Given the description of an element on the screen output the (x, y) to click on. 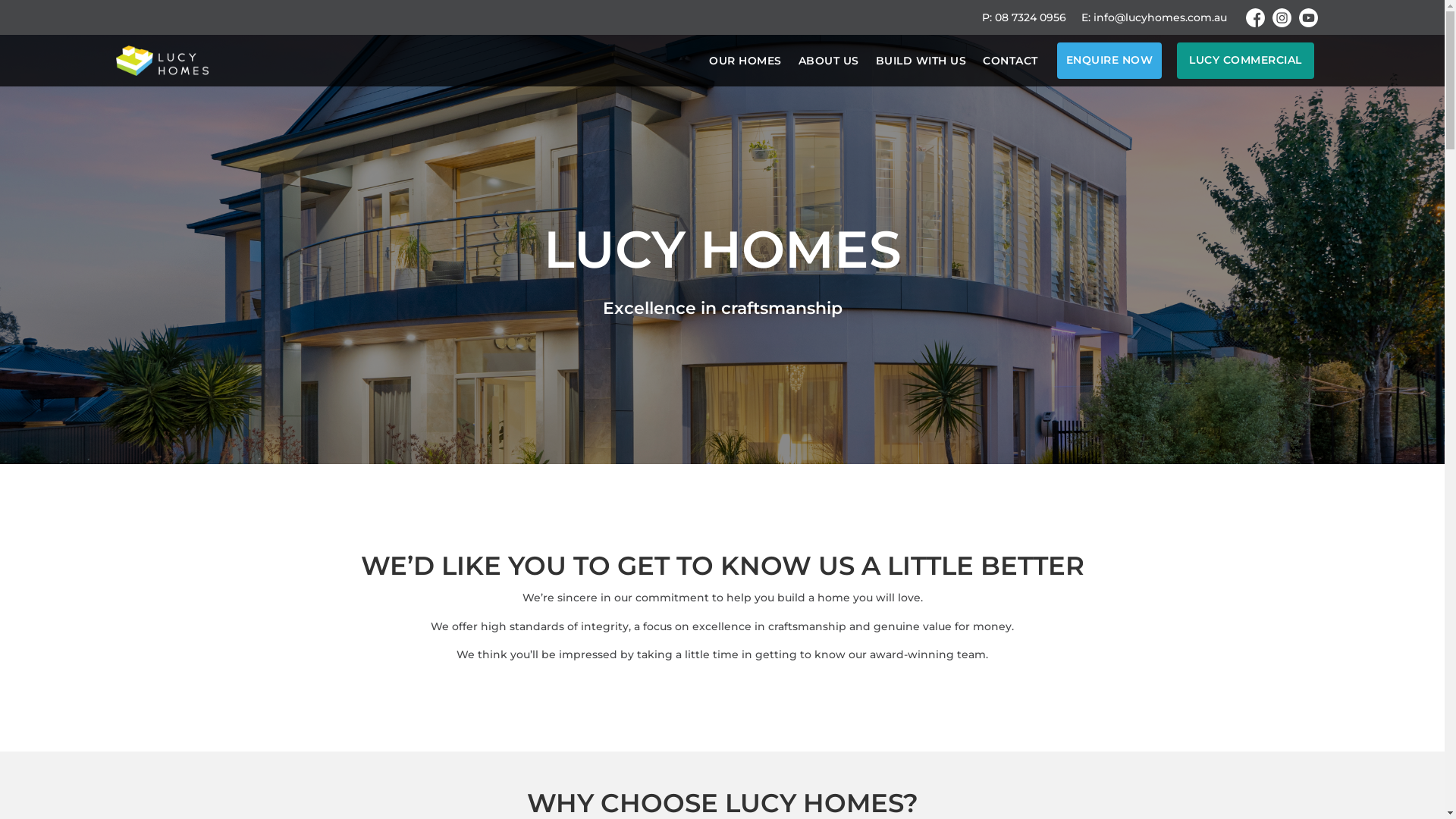
info@lucyhomes.com.au Element type: text (1159, 17)
BUILD WITH US Element type: text (920, 60)
08 7324 0956 Element type: text (1030, 17)
ENQUIRE NOW Element type: text (1109, 60)
OUR HOMES Element type: text (745, 60)
CONTACT Element type: text (1010, 60)
ABOUT US Element type: text (827, 60)
LUCY COMMERCIAL Element type: text (1245, 60)
